Given the description of an element on the screen output the (x, y) to click on. 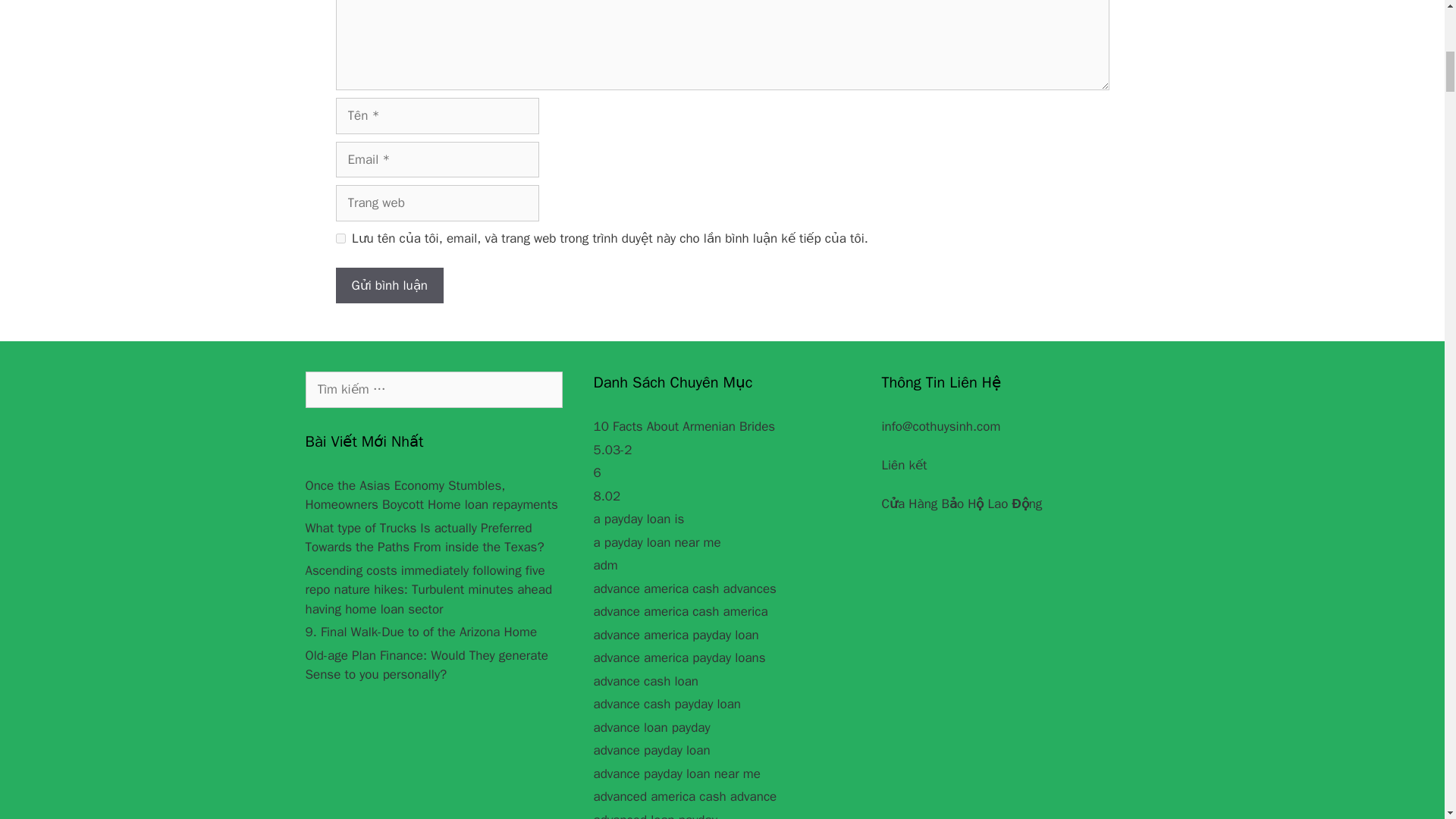
10 Facts About Armenian Brides (683, 426)
6 (595, 472)
adm (604, 565)
advance america payday loan (675, 634)
yes (339, 238)
advance america cash advances (684, 588)
advance america cash america (679, 611)
advance cash loan (645, 681)
a payday loan near me (656, 542)
5.03-2 (611, 449)
9. Final Walk-Due to of the Arizona Home (420, 631)
a payday loan is (638, 519)
